Given the description of an element on the screen output the (x, y) to click on. 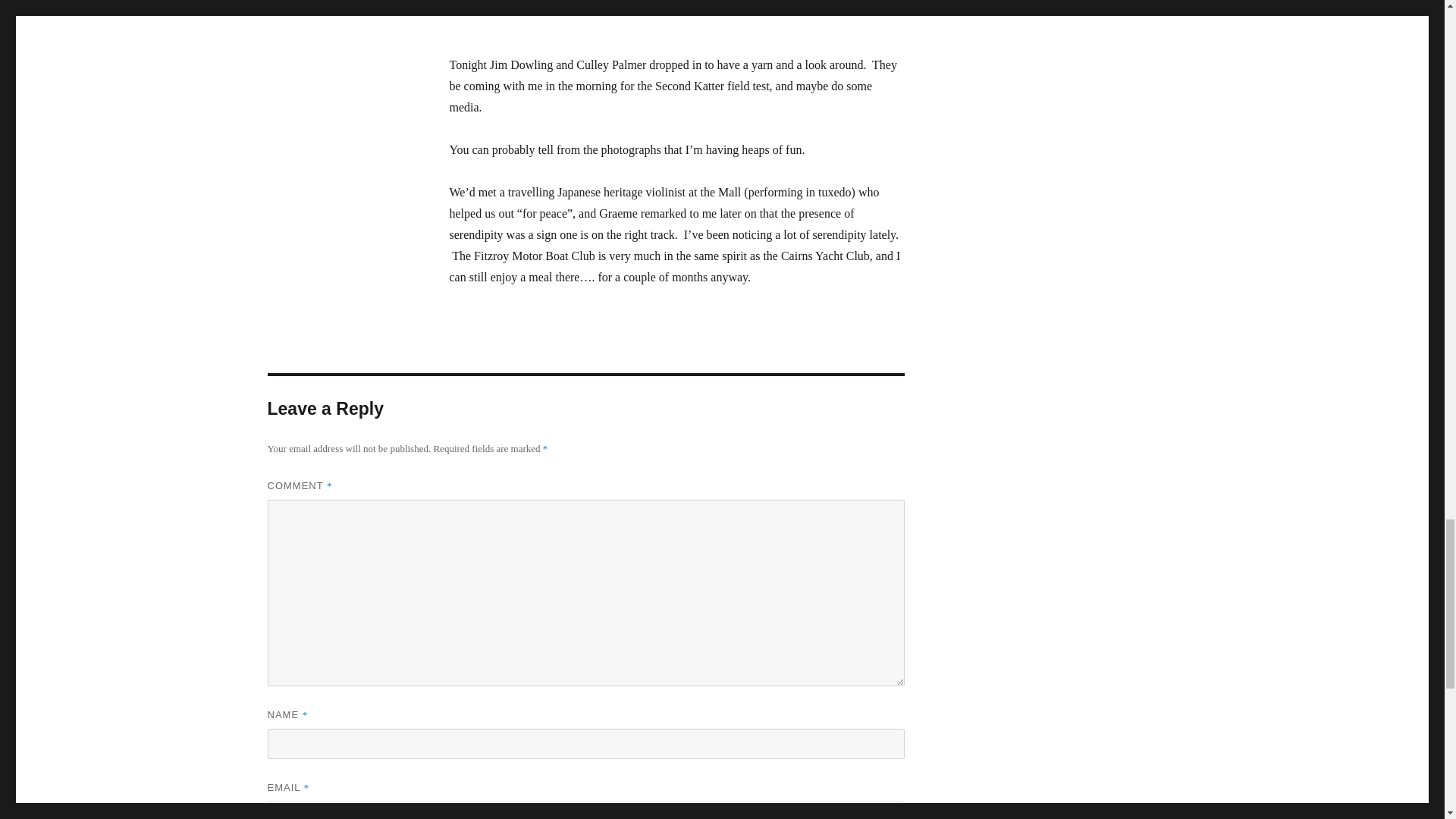
Policing the activists - small (676, 16)
